Given the description of an element on the screen output the (x, y) to click on. 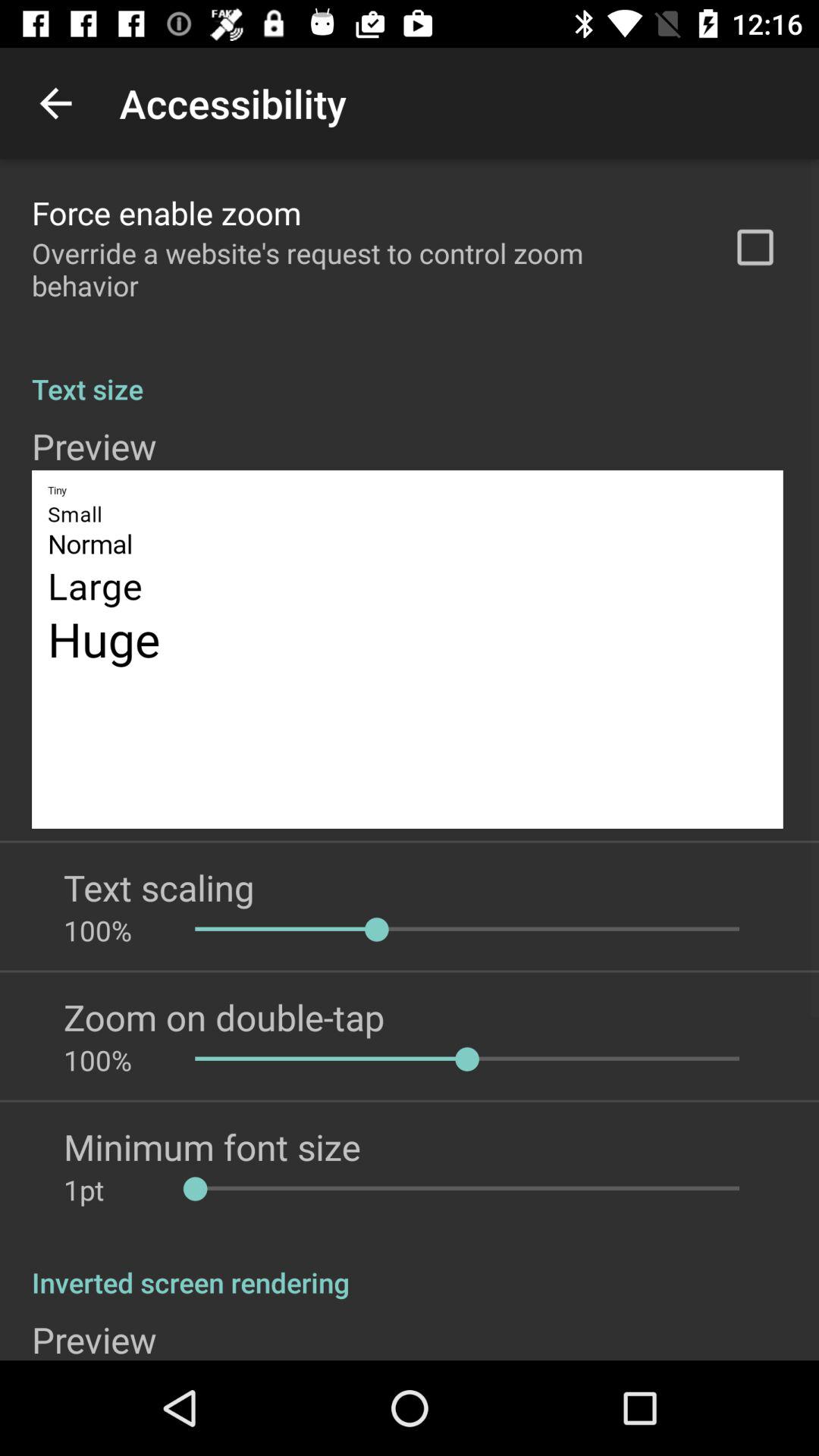
open the inverted screen rendering (409, 1266)
